Given the description of an element on the screen output the (x, y) to click on. 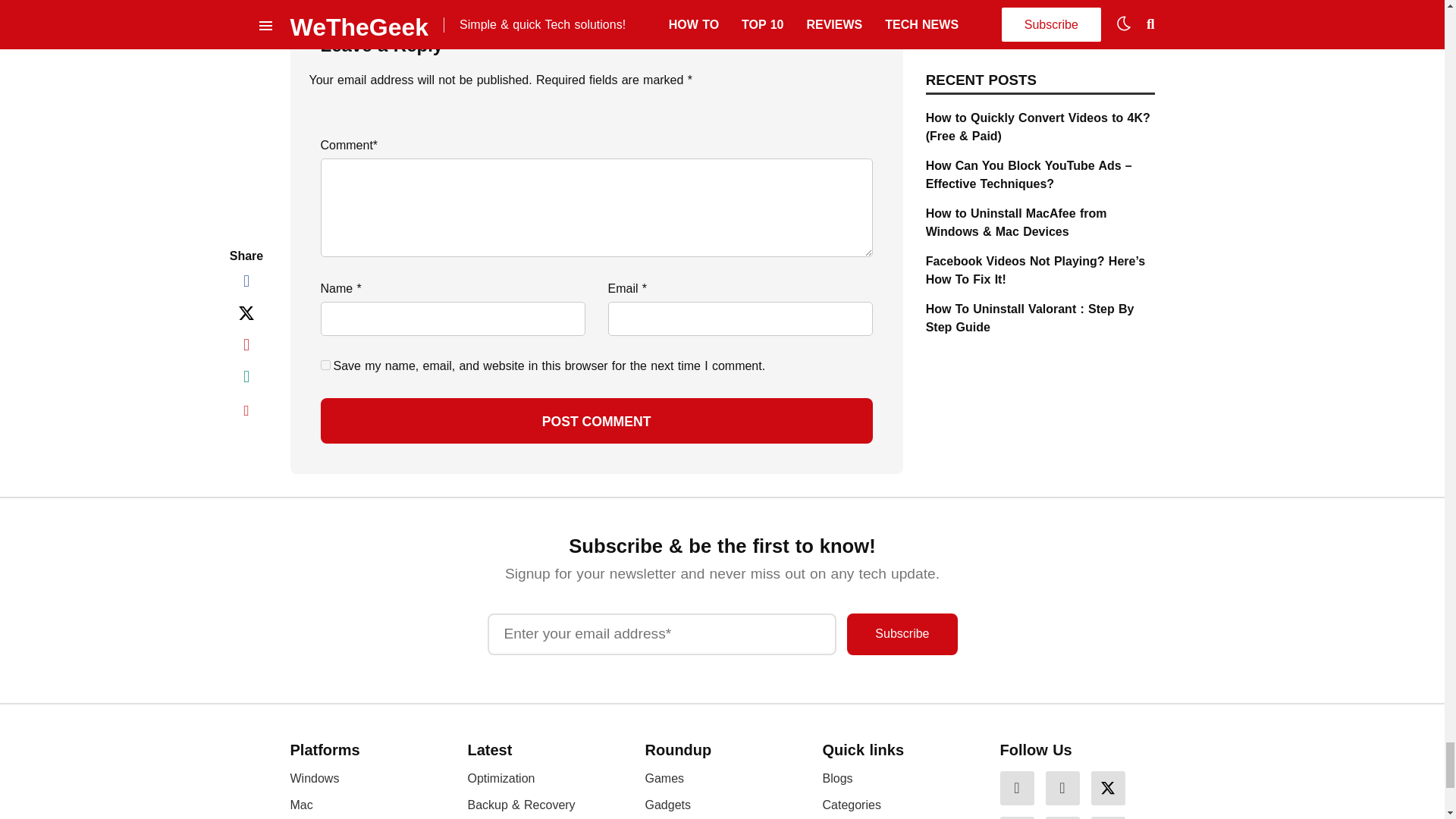
yes (325, 365)
Post Comment (596, 420)
Subscribe (901, 634)
